Given the description of an element on the screen output the (x, y) to click on. 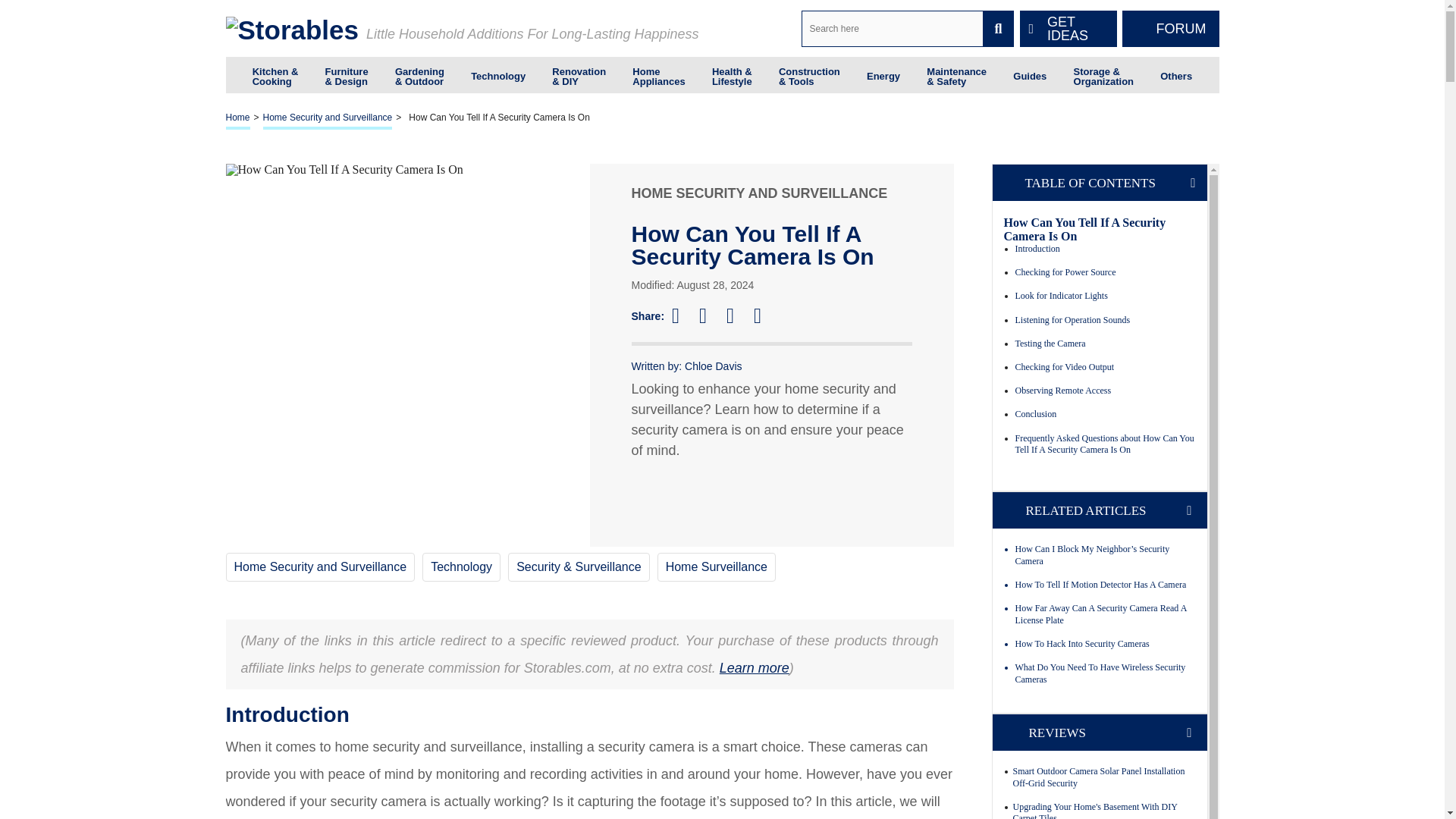
Share on WhatsApp (764, 315)
Share on Twitter (709, 315)
GET IDEAS (1067, 28)
Technology (497, 74)
Share on Facebook (682, 315)
FORUM (1171, 28)
Share on Pinterest (737, 315)
